Given the description of an element on the screen output the (x, y) to click on. 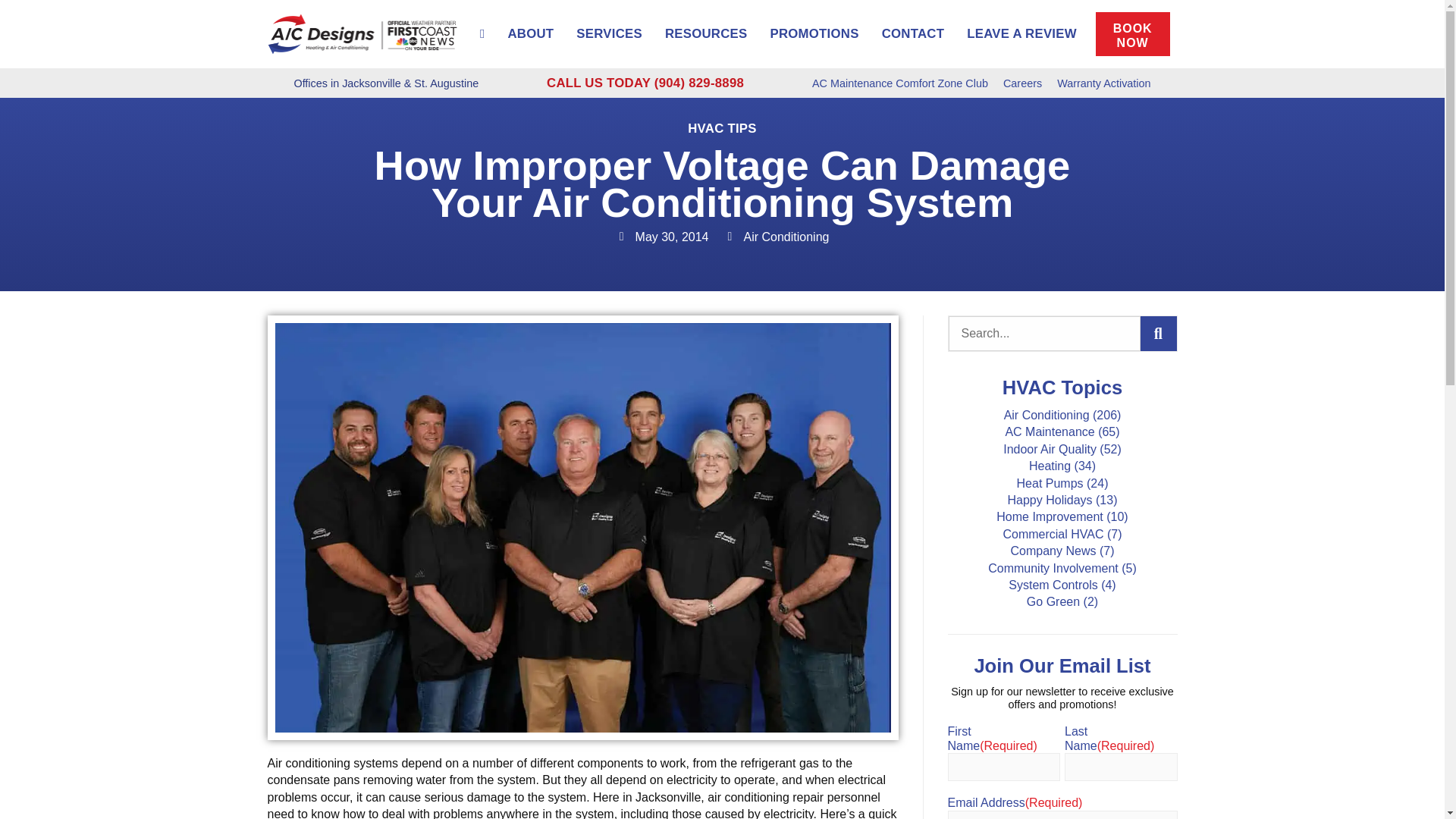
Promotions (813, 33)
SERVICES (608, 33)
Contact Us (913, 33)
ABOUT (530, 33)
RESOURCES (705, 33)
